Given the description of an element on the screen output the (x, y) to click on. 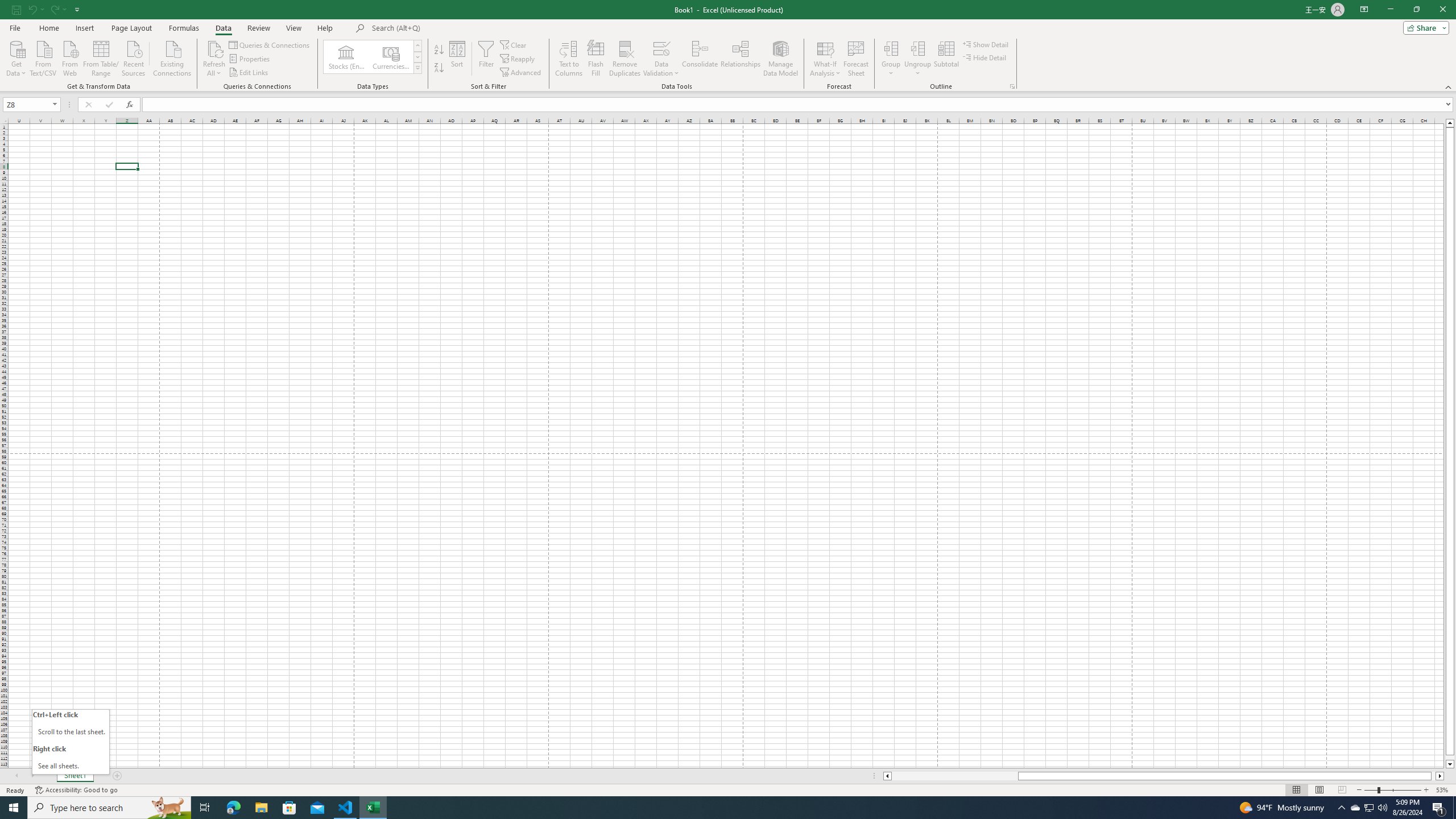
Edit Links (249, 72)
Sort Z to A (438, 67)
Currencies (English) (390, 56)
Sort... (456, 58)
From Web (69, 57)
Row up (417, 45)
Sort A to Z (438, 49)
Remove Duplicates (625, 58)
